Given the description of an element on the screen output the (x, y) to click on. 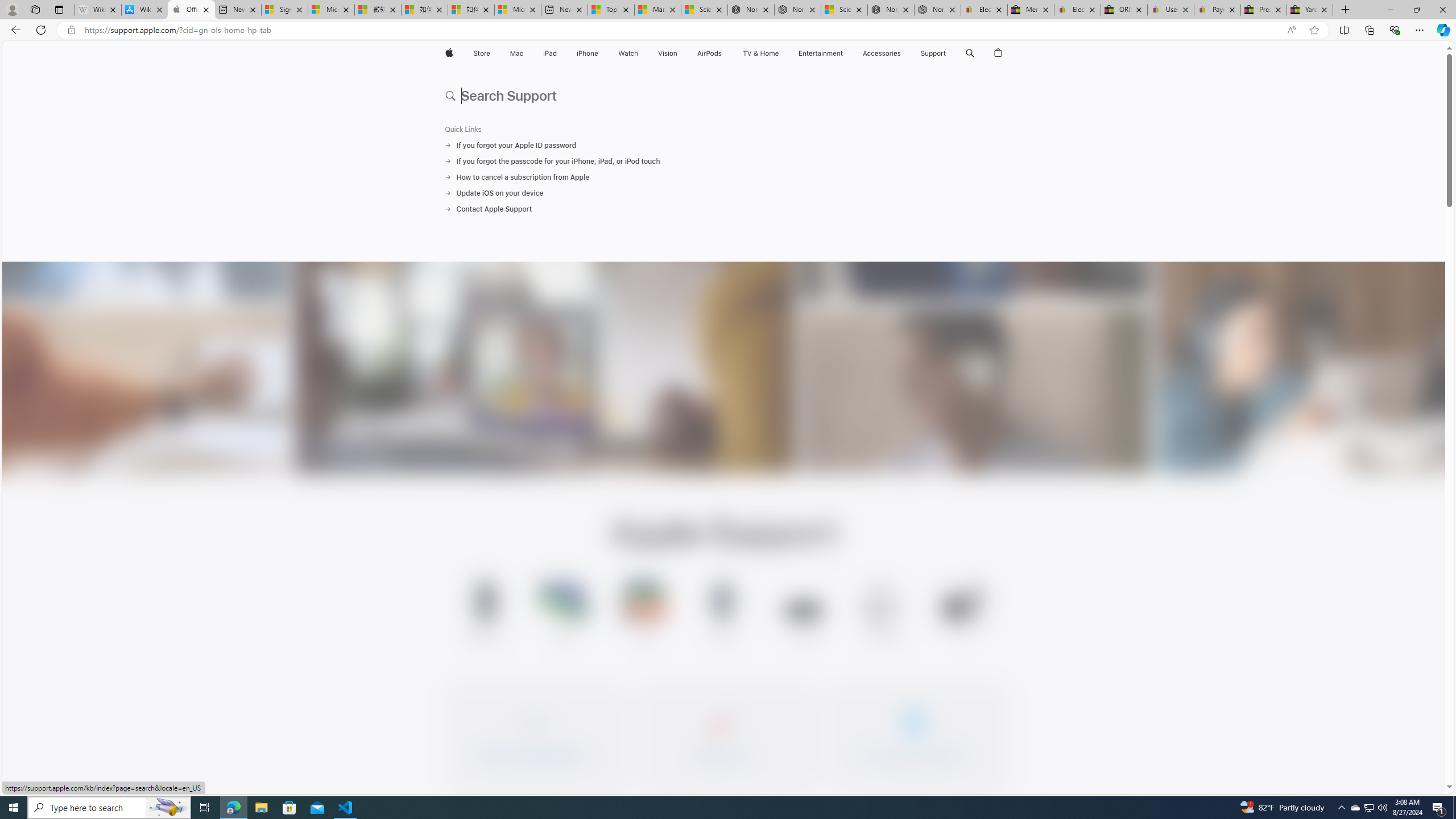
Accessories (881, 53)
TV & Home (759, 53)
Yard, Garden & Outdoor Living (1309, 9)
Apple Repair (723, 734)
iPad Support (643, 612)
Billing and subscriptions (914, 734)
Forgot Apple ID password (532, 734)
Mac (516, 53)
